Given the description of an element on the screen output the (x, y) to click on. 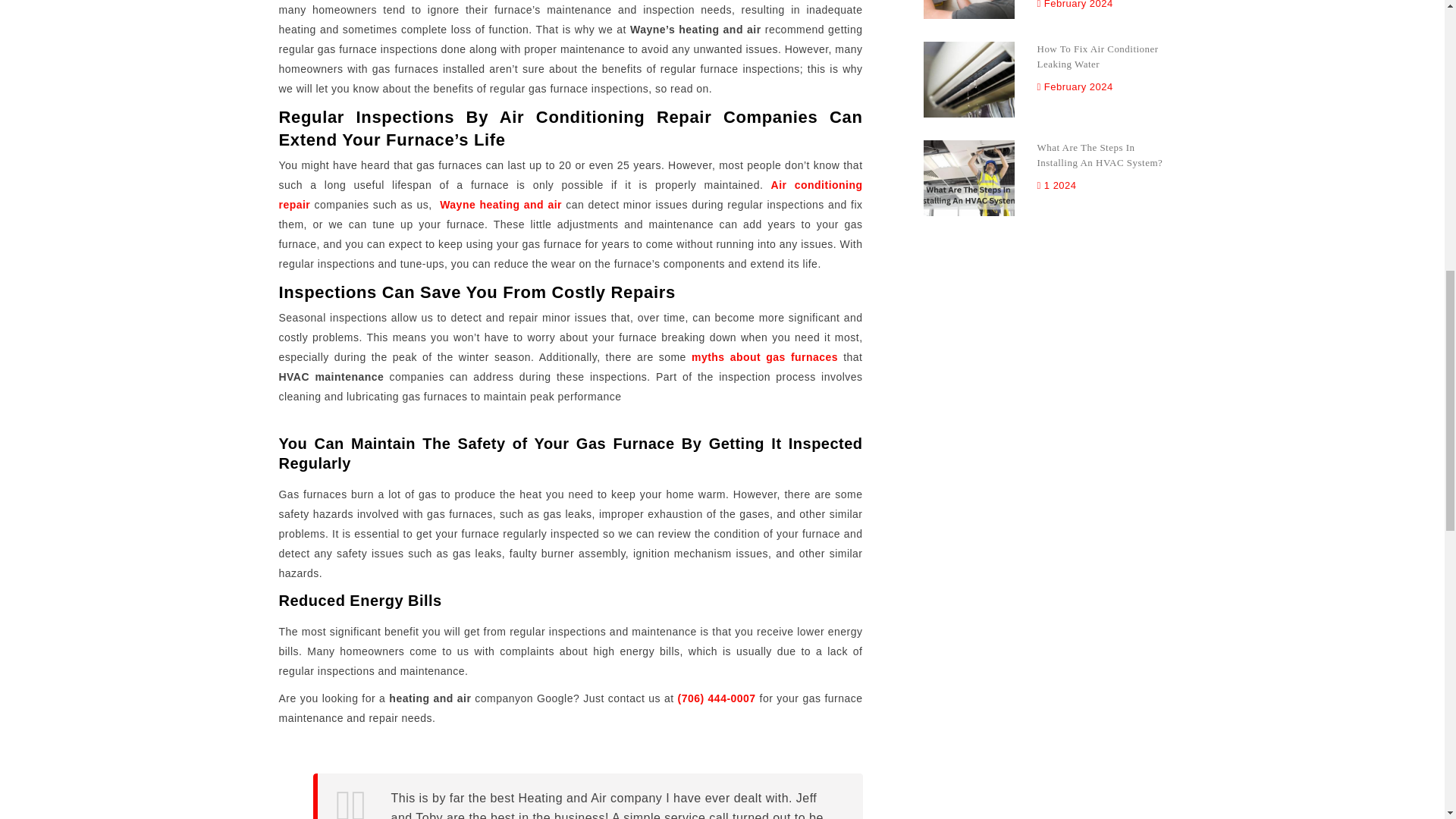
How To Fix Air Conditioner Leaking Water (1101, 66)
